Given the description of an element on the screen output the (x, y) to click on. 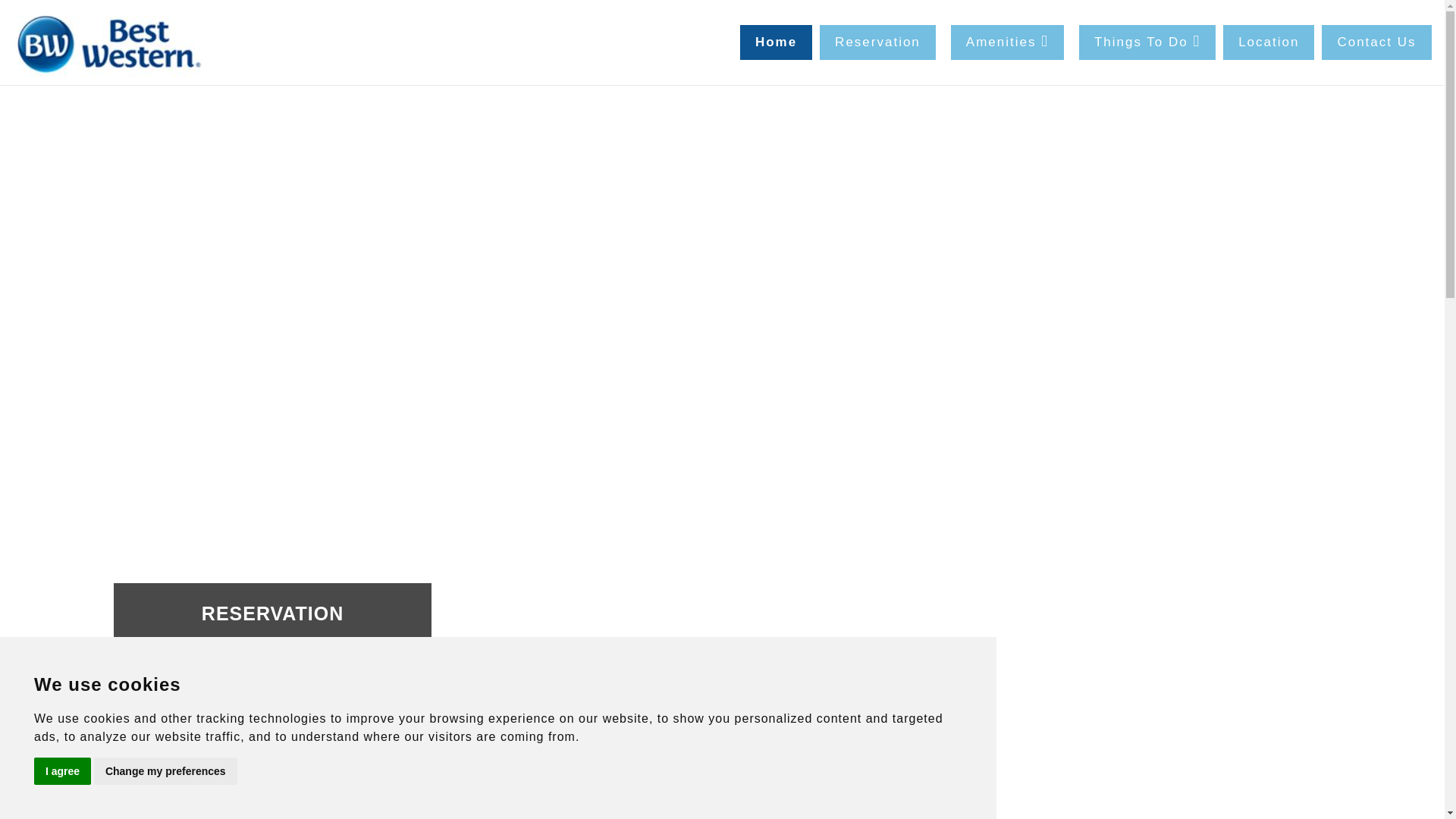
I agree (61, 770)
Reservation (877, 42)
Things To Do (1146, 42)
Hotel Amenities (1007, 42)
Contact Us (1376, 42)
Book Now (272, 772)
Hotel Info (775, 42)
Hotel Directions (1268, 42)
Hotel Contact Us (1376, 42)
Click Here to make Hotel Reservations (877, 42)
Hotel Area Attractions Info (1146, 42)
Change my preferences (165, 770)
Accessibility Menu (26, 792)
Home (112, 42)
